Given the description of an element on the screen output the (x, y) to click on. 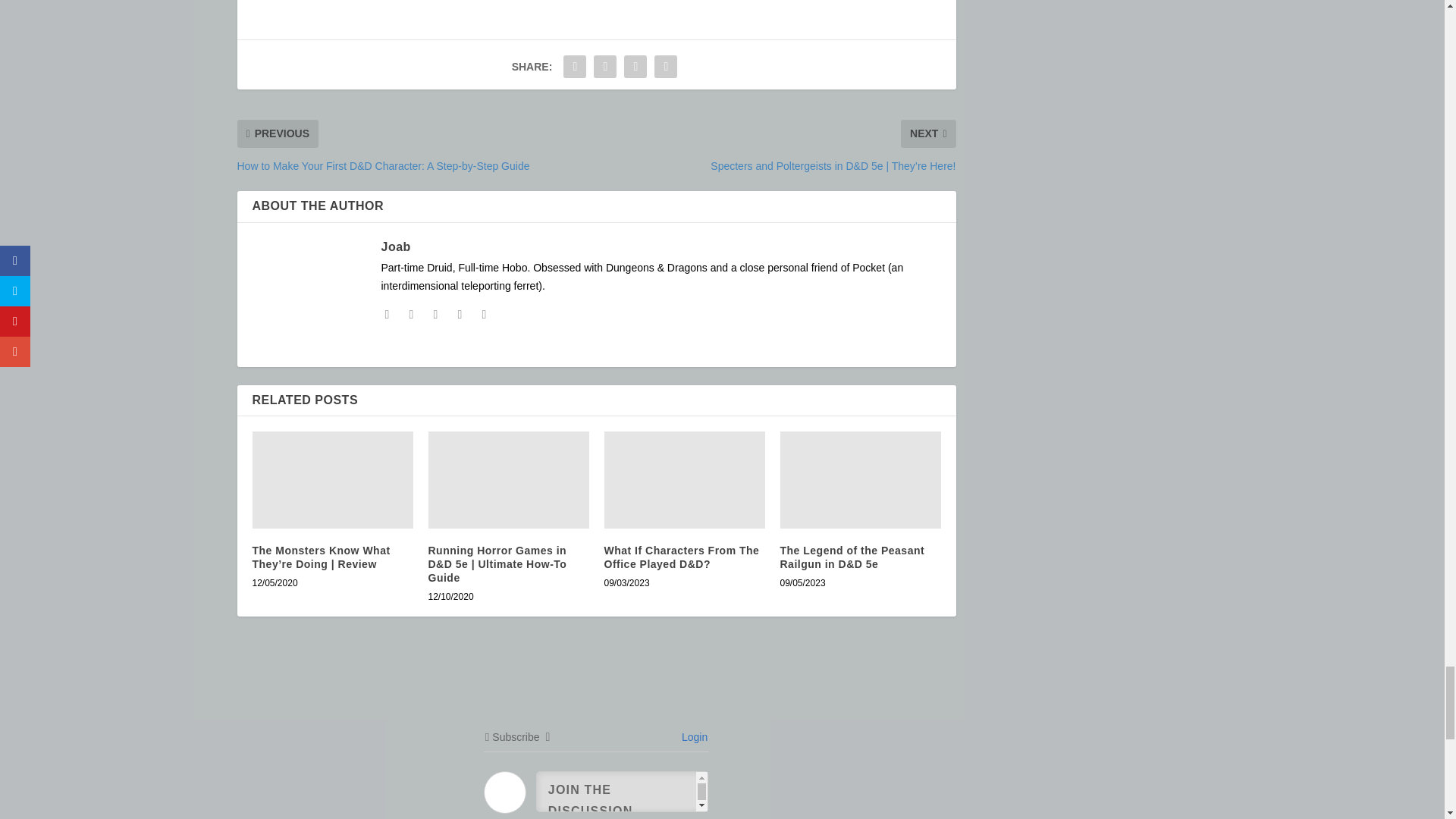
View all posts by Joab (395, 246)
